Given the description of an element on the screen output the (x, y) to click on. 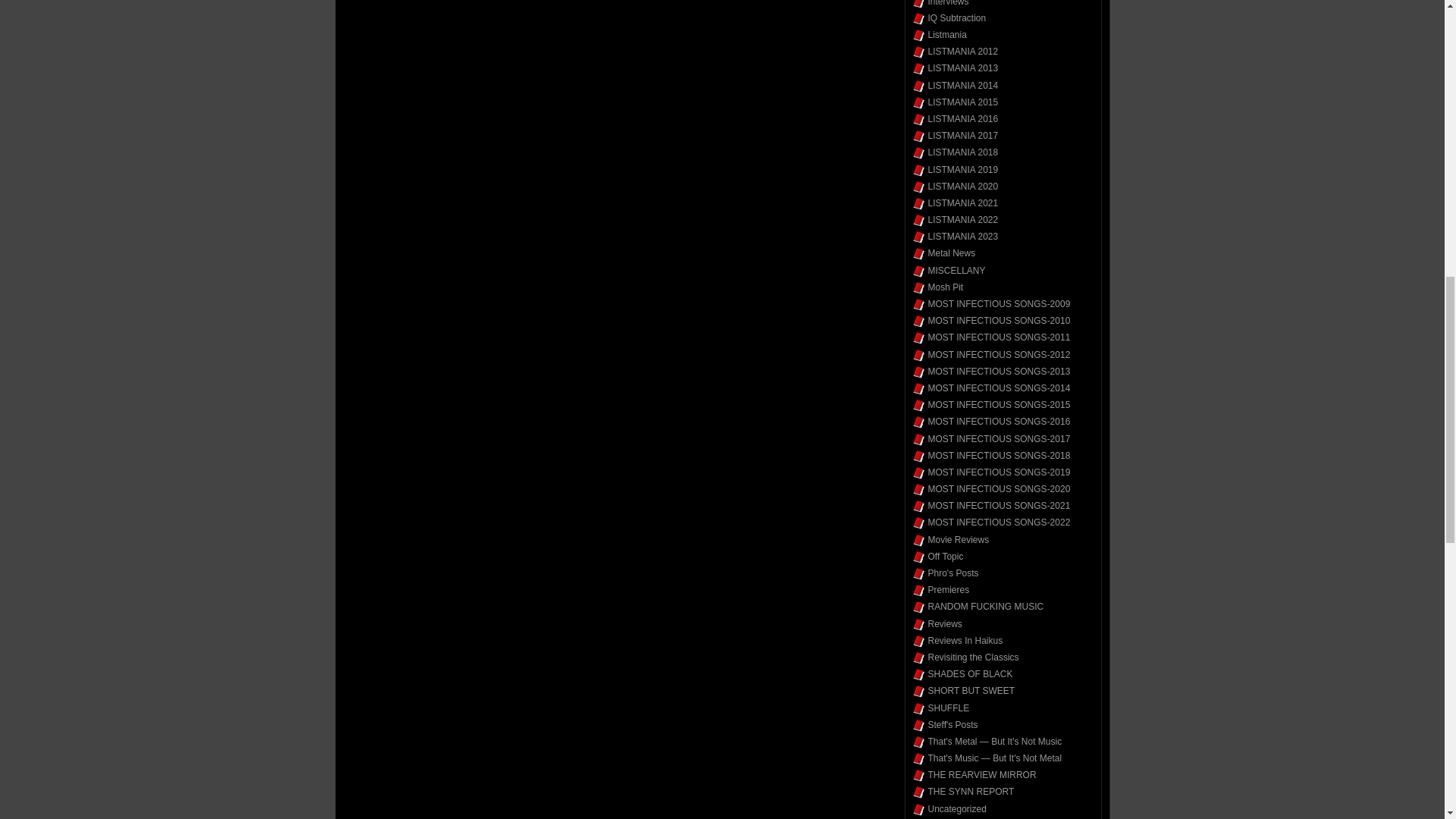
IQ Subtraction (957, 18)
Interviews (948, 3)
Listmania (947, 34)
